Given the description of an element on the screen output the (x, y) to click on. 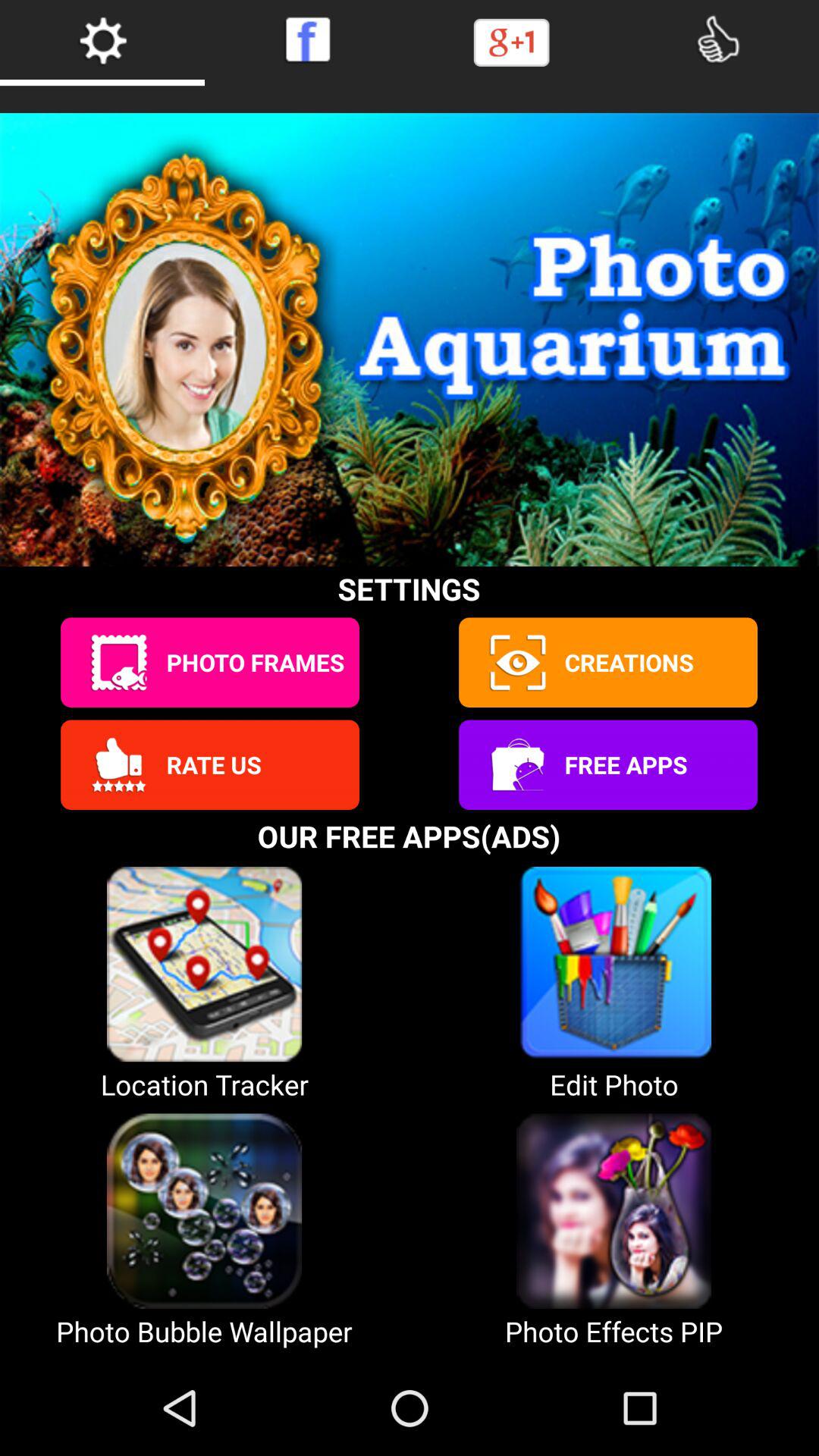
facebook (306, 39)
